Given the description of an element on the screen output the (x, y) to click on. 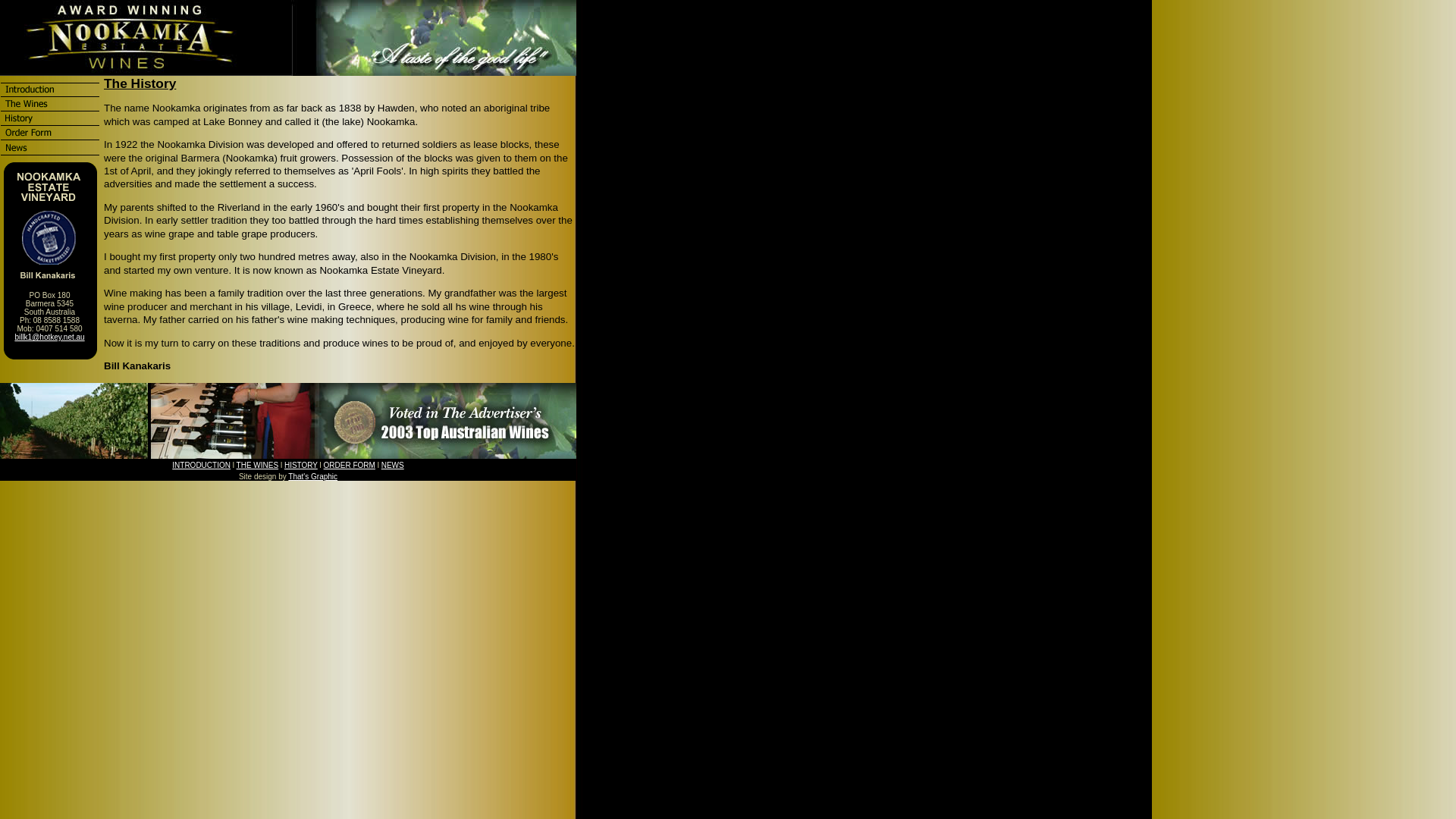
ORDER FORM Element type: text (349, 465)
HISTORY Element type: text (300, 465)
NEWS Element type: text (392, 465)
That's Graphic Element type: text (312, 476)
billk1@hotkey.net.au Element type: text (49, 336)
THE WINES Element type: text (257, 465)
INTRODUCTION Element type: text (201, 465)
